Given the description of an element on the screen output the (x, y) to click on. 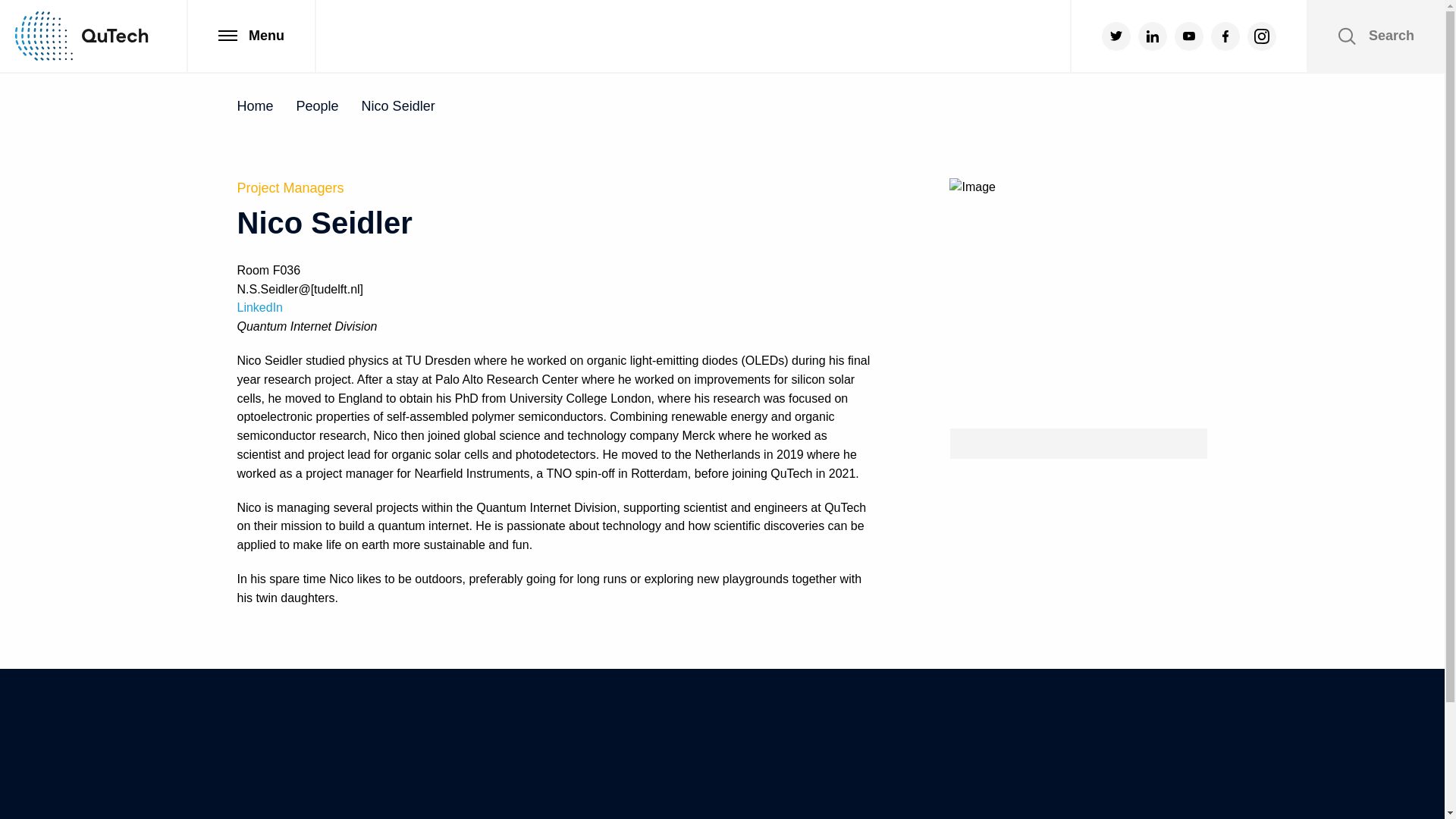
Menu (250, 36)
QuTech (81, 35)
QuTech (81, 35)
